Given the description of an element on the screen output the (x, y) to click on. 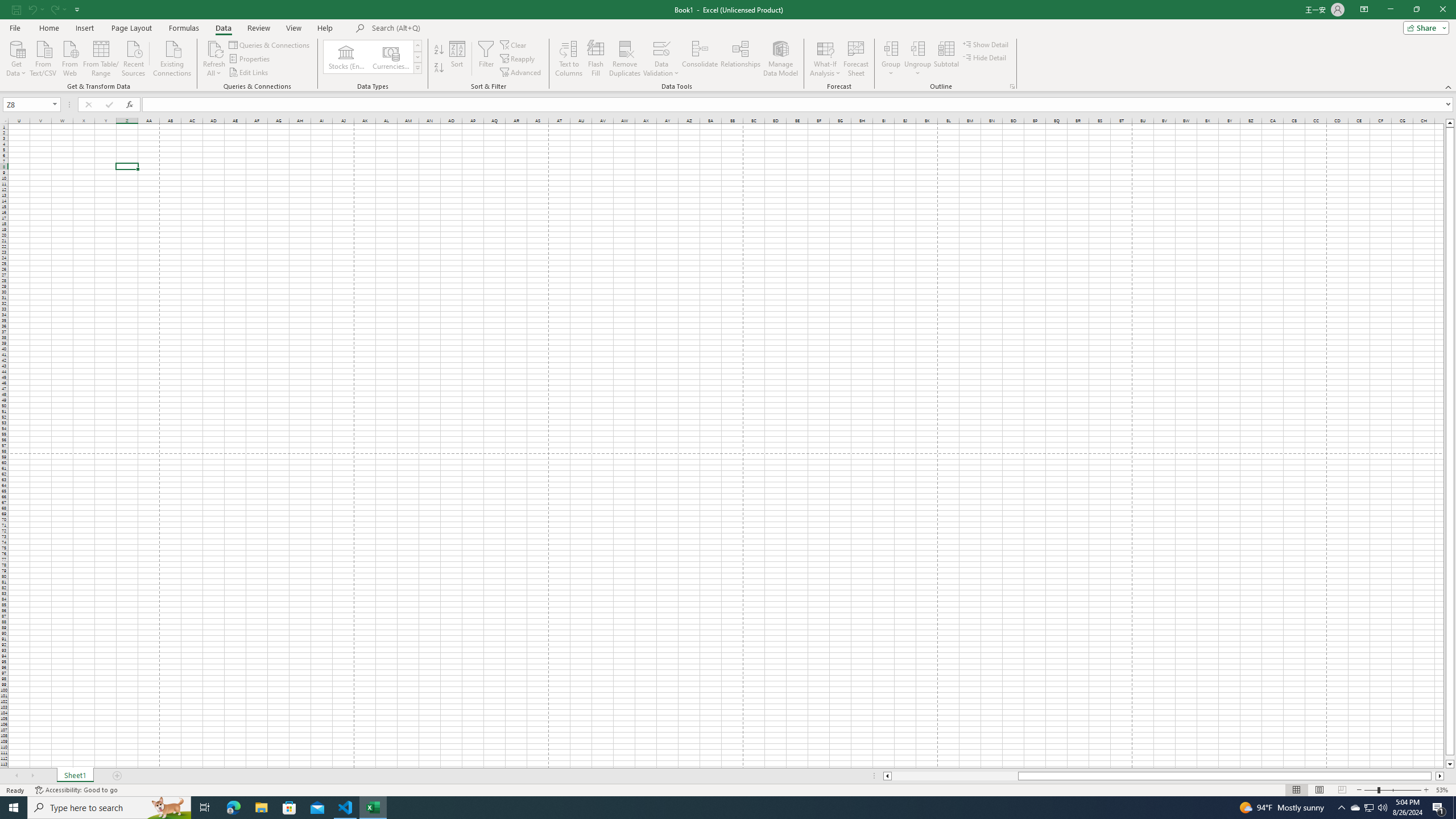
Microsoft search (450, 28)
Subtotal (946, 58)
Class: MsoCommandBar (728, 45)
Queries & Connections (270, 44)
Sort Z to A (438, 67)
Remove Duplicates (625, 58)
Clear (513, 44)
